Given the description of an element on the screen output the (x, y) to click on. 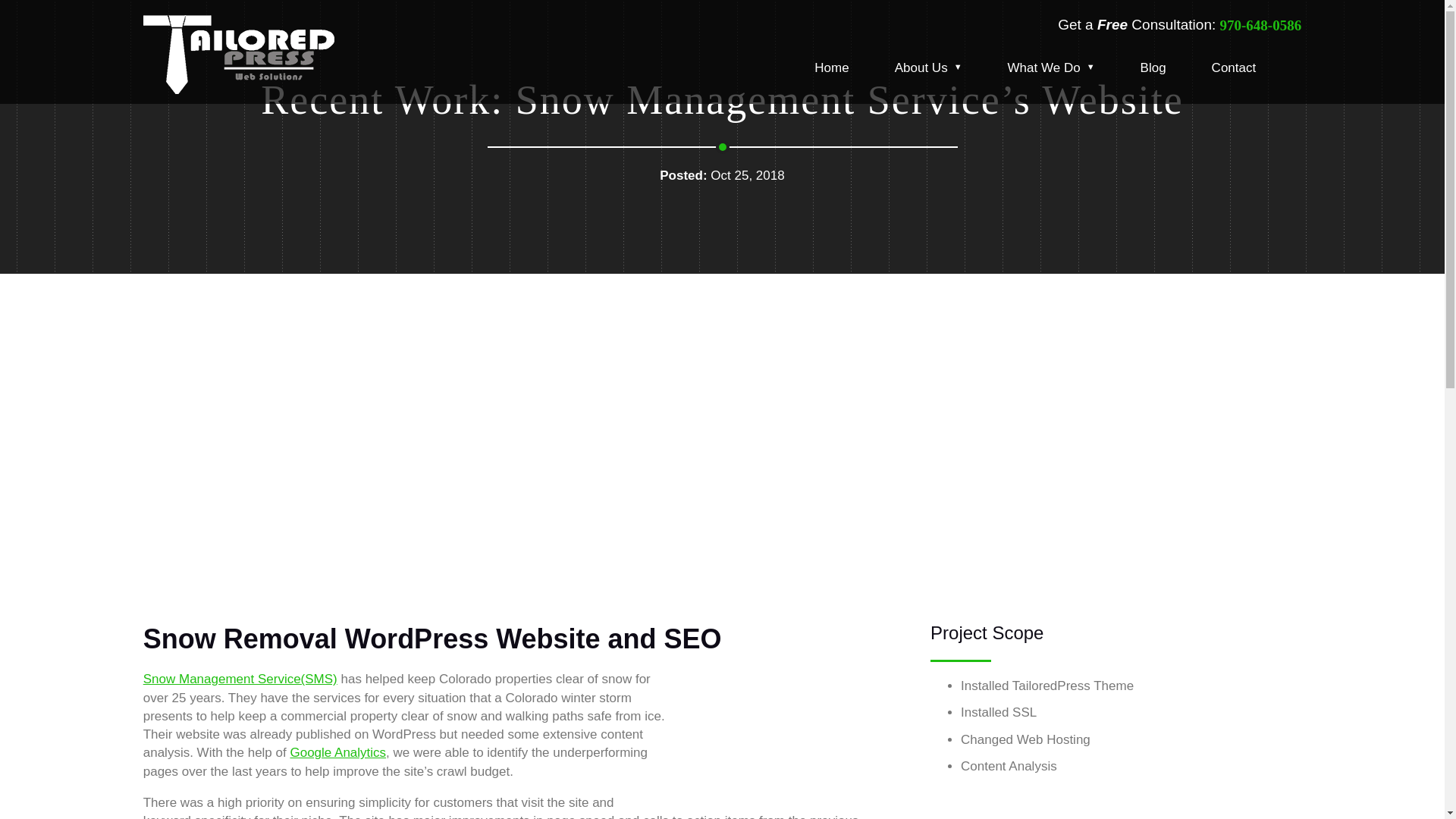
Contact (1234, 74)
970-648-0586 (1260, 25)
Home (831, 74)
TailoredPress Homepage (278, 54)
What We Do (1051, 74)
Google Analytics (337, 752)
Call TailoredPress (1260, 25)
Blog (1153, 74)
About Us (928, 74)
